Given the description of an element on the screen output the (x, y) to click on. 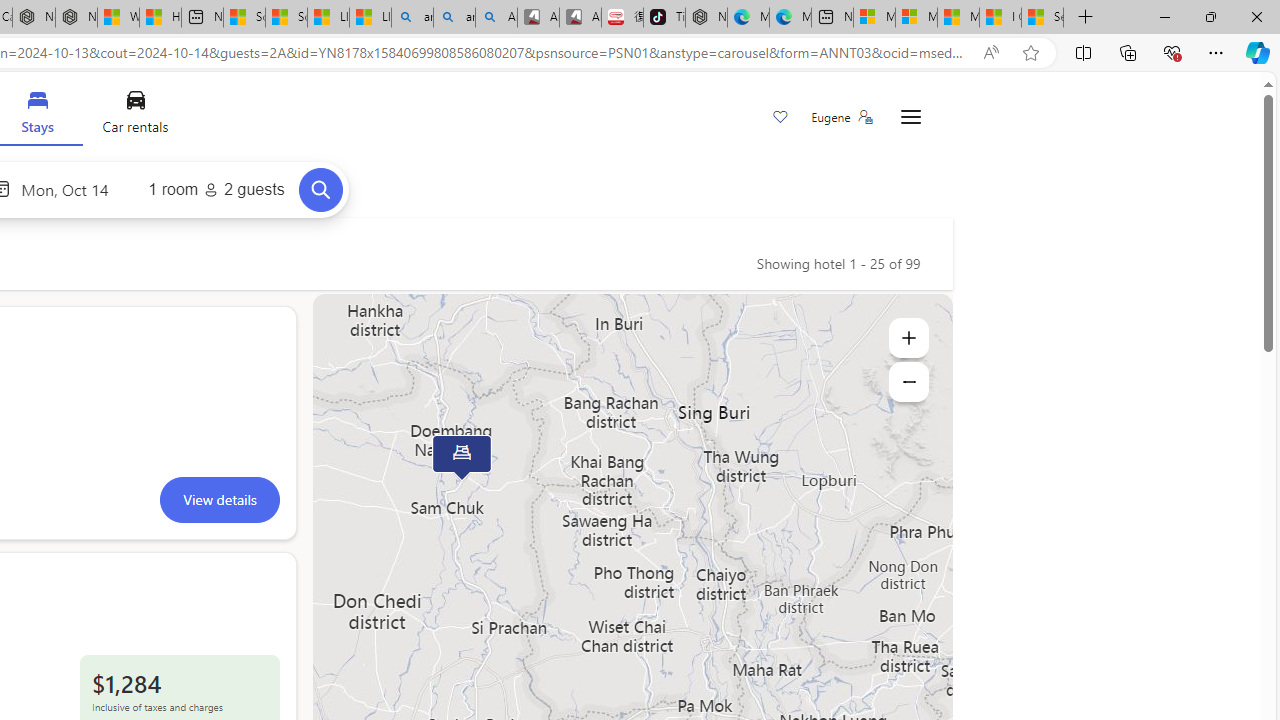
View details (219, 499)
1 room2 guests (216, 190)
Car rentals (134, 116)
End date (70, 188)
Save (780, 118)
